Given the description of an element on the screen output the (x, y) to click on. 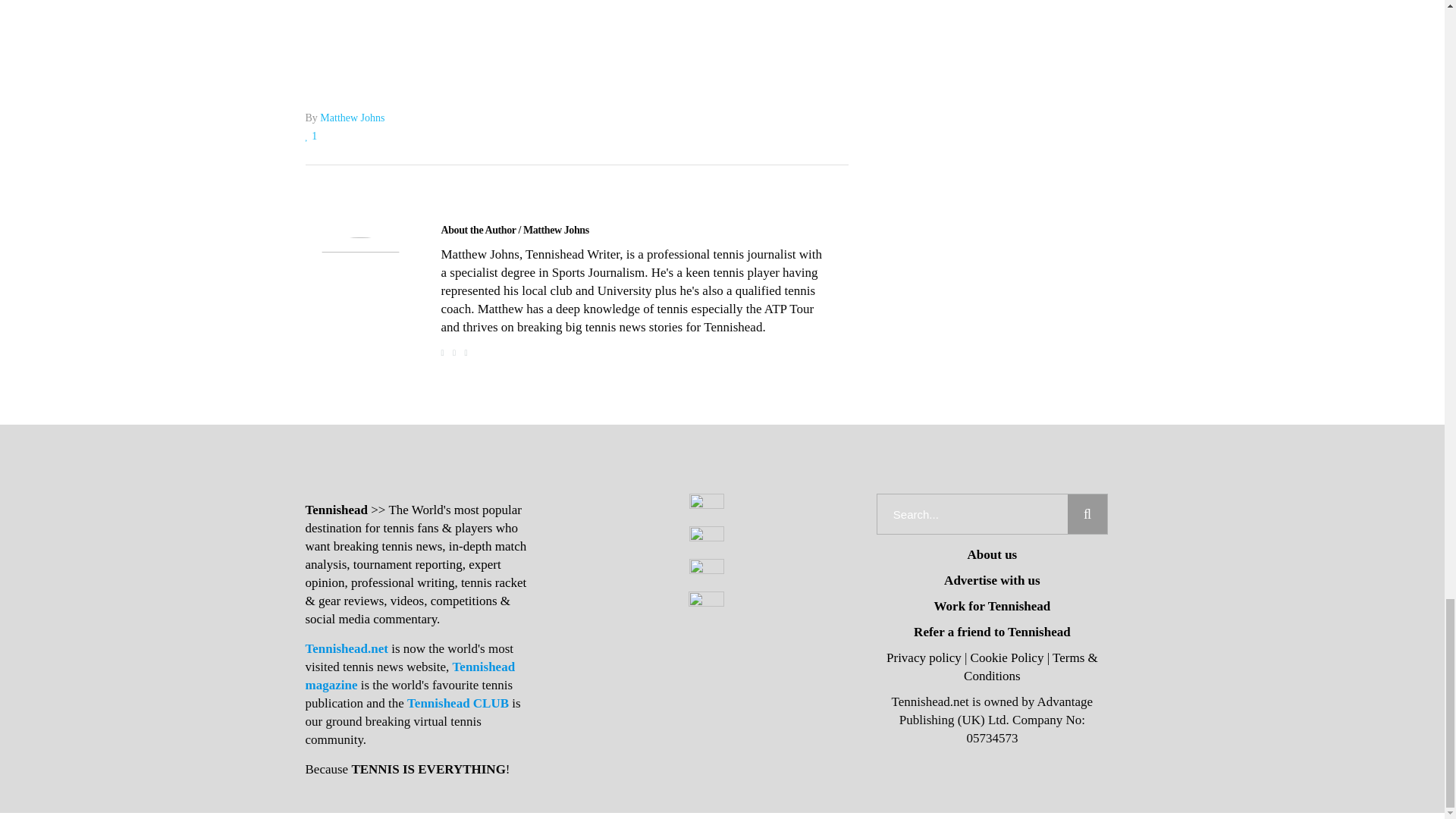
Like this (310, 135)
Search for: (972, 513)
TNNS Live Scores (576, 22)
